Given the description of an element on the screen output the (x, y) to click on. 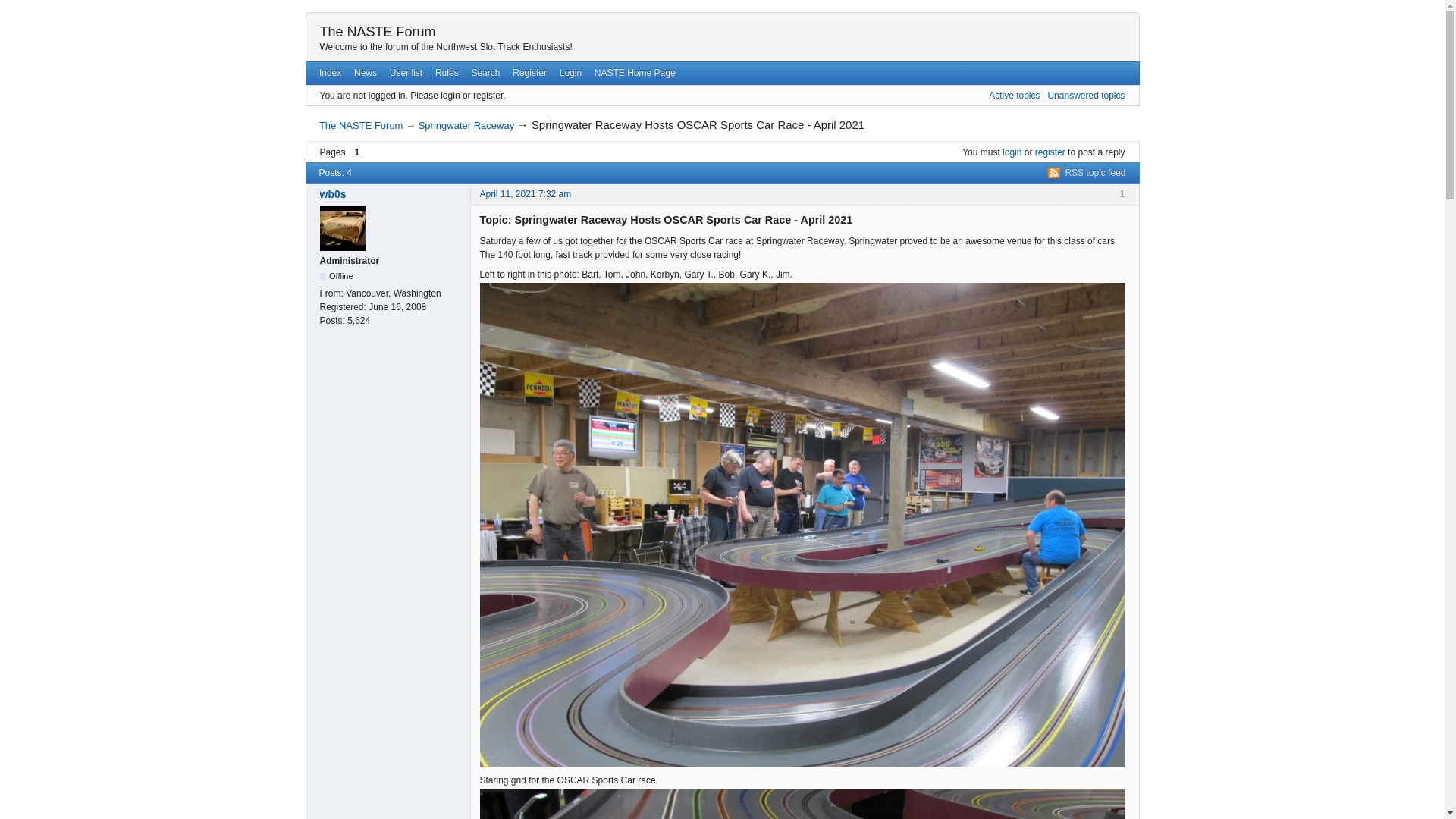
RSS topic feed (1086, 172)
NASTE Home Page (634, 72)
Go to wb0s's profile (390, 193)
Permanent link to this post (524, 194)
Springwater Raceway (466, 125)
register (1050, 152)
The NASTE Forum (360, 125)
Register (529, 72)
Search (485, 72)
Find topics which have not been replied to. (1085, 95)
Active topics (1013, 95)
wb0s (390, 193)
login (1012, 152)
April 11, 2021 7:32 am (524, 194)
User list (405, 72)
